Given the description of an element on the screen output the (x, y) to click on. 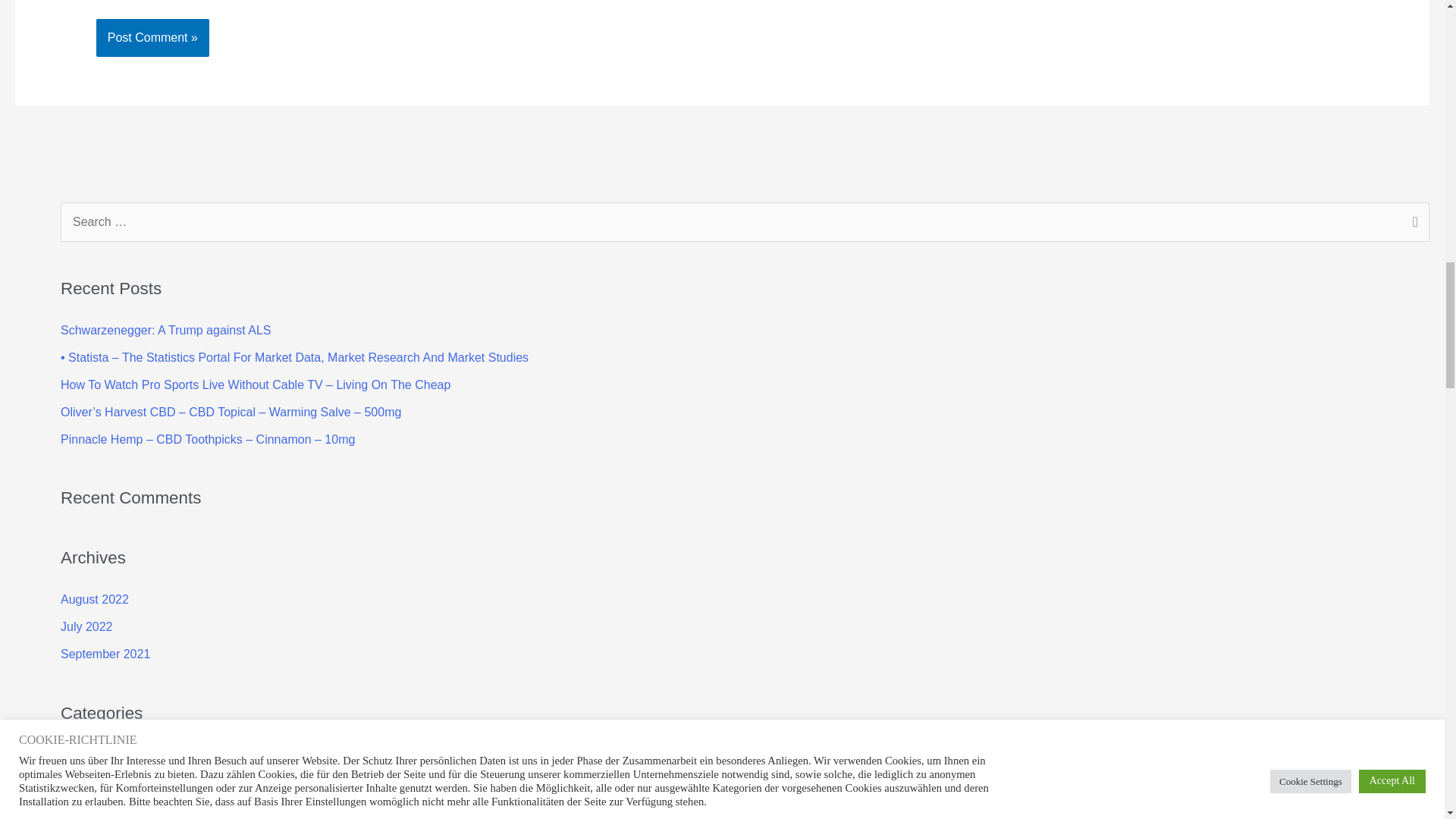
August 2022 (95, 599)
anonymous (92, 754)
Schwarzenegger: A Trump against ALS (165, 329)
anonymous (92, 754)
September 2021 (105, 653)
July 2022 (87, 626)
